Given the description of an element on the screen output the (x, y) to click on. 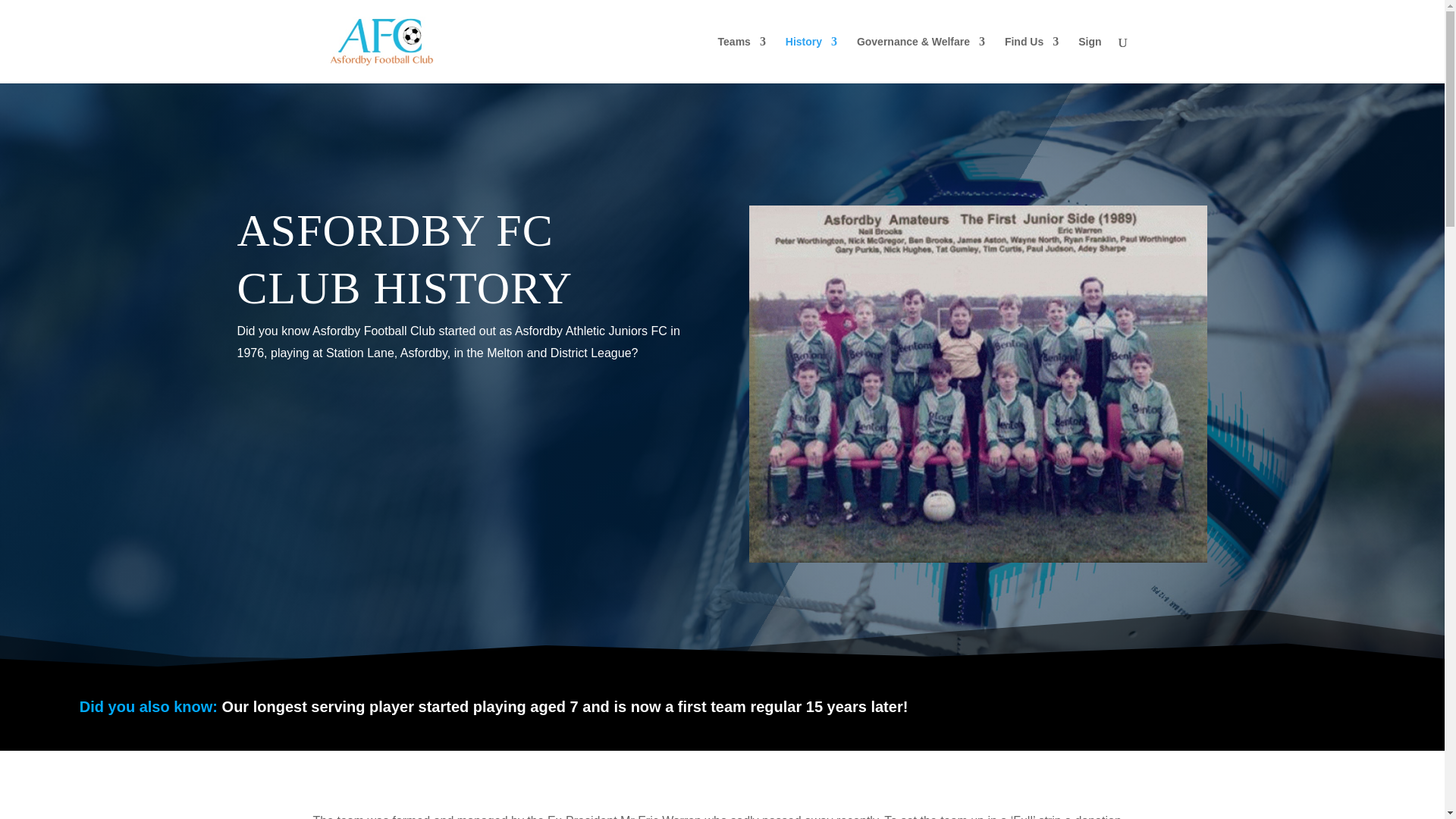
Teams (741, 59)
History (811, 59)
Find Us (1031, 59)
